Given the description of an element on the screen output the (x, y) to click on. 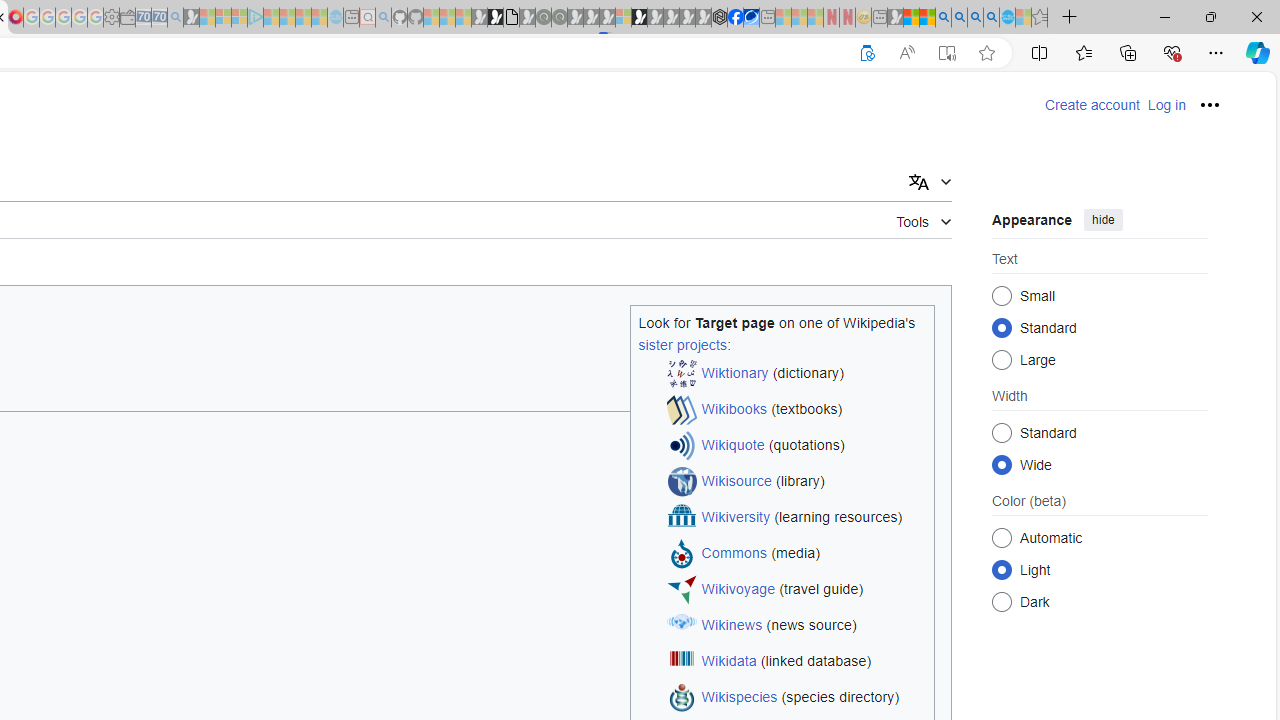
Automatic (1002, 537)
Wikibooks (textbooks) (796, 410)
sister projects (682, 344)
Wikispecies (species directory) (796, 698)
MSN - Sleeping (895, 17)
Wikiversity (learning resources) (796, 518)
Wikibooks (734, 409)
2009 Bing officially replaced Live Search on June 3 - Search (959, 17)
Wikisource (736, 481)
